Given the description of an element on the screen output the (x, y) to click on. 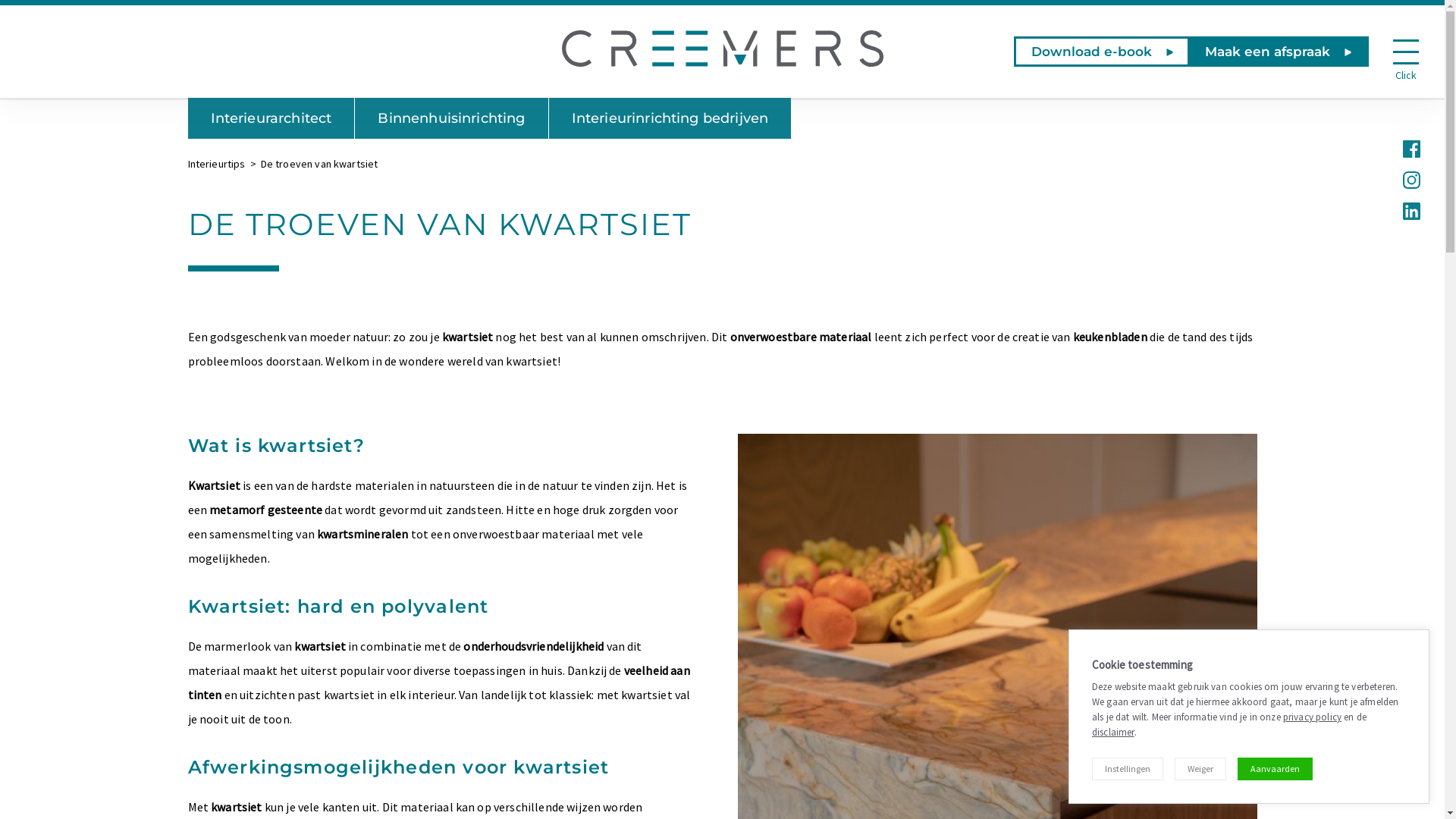
De troeven van kwartsiet Element type: text (319, 163)
Instellingen Element type: text (1127, 768)
Interieurarchitect Element type: text (271, 117)
privacy policy Element type: text (1312, 716)
Interieurinrichting bedrijven Element type: text (669, 117)
disclaimer Element type: text (1113, 731)
Aanvaarden Element type: text (1274, 768)
linkedin Element type: hover (1409, 209)
Interieurtips Element type: text (216, 163)
facebook Element type: hover (1409, 147)
Binnenhuisinrichting Element type: text (450, 117)
Maak een afspraak Element type: text (1277, 51)
instagram Element type: hover (1409, 178)
Weiger Element type: text (1200, 768)
Download e-book Element type: text (1101, 51)
